Given the description of an element on the screen output the (x, y) to click on. 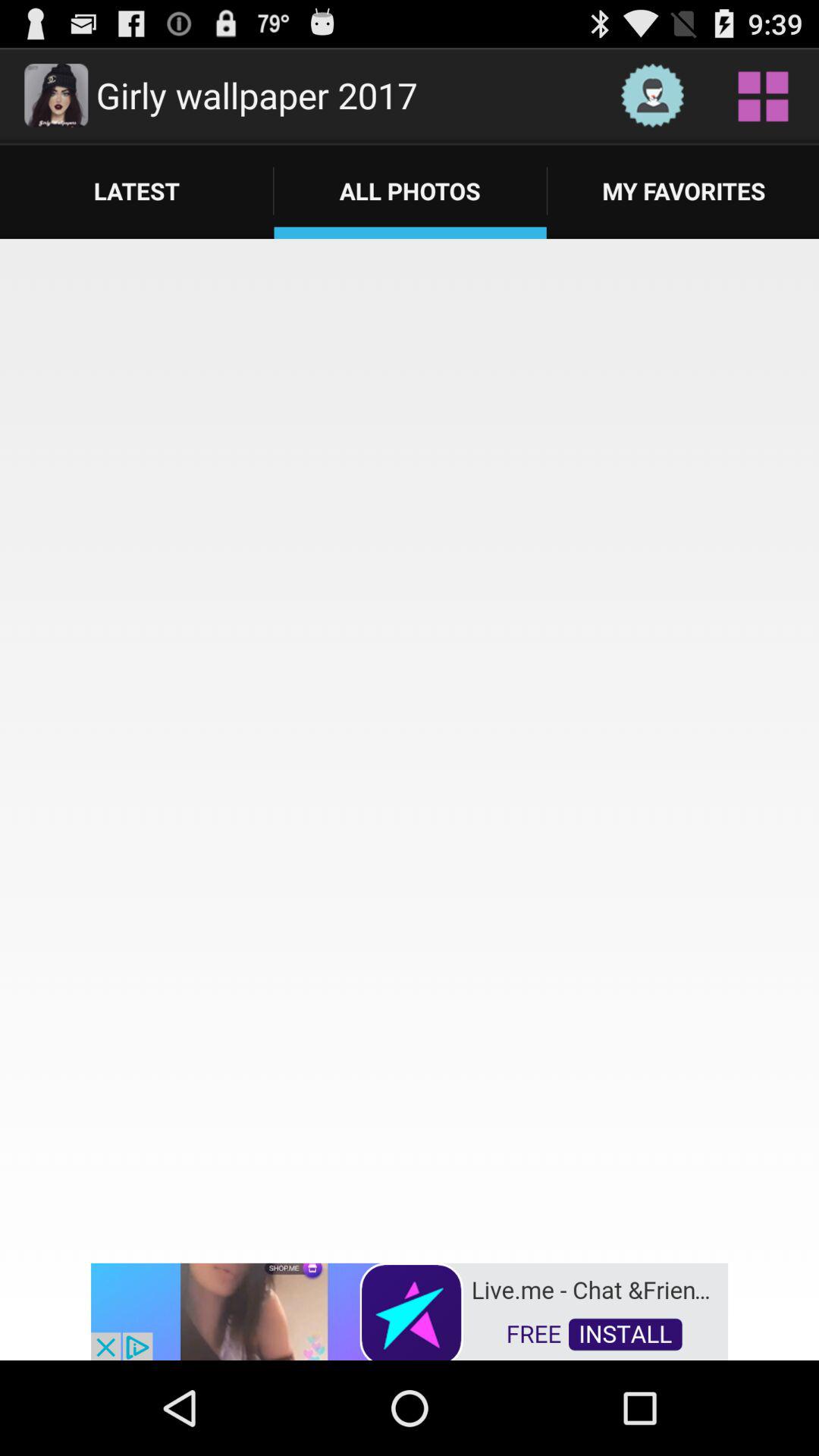
go to wallpaper (763, 95)
